Given the description of an element on the screen output the (x, y) to click on. 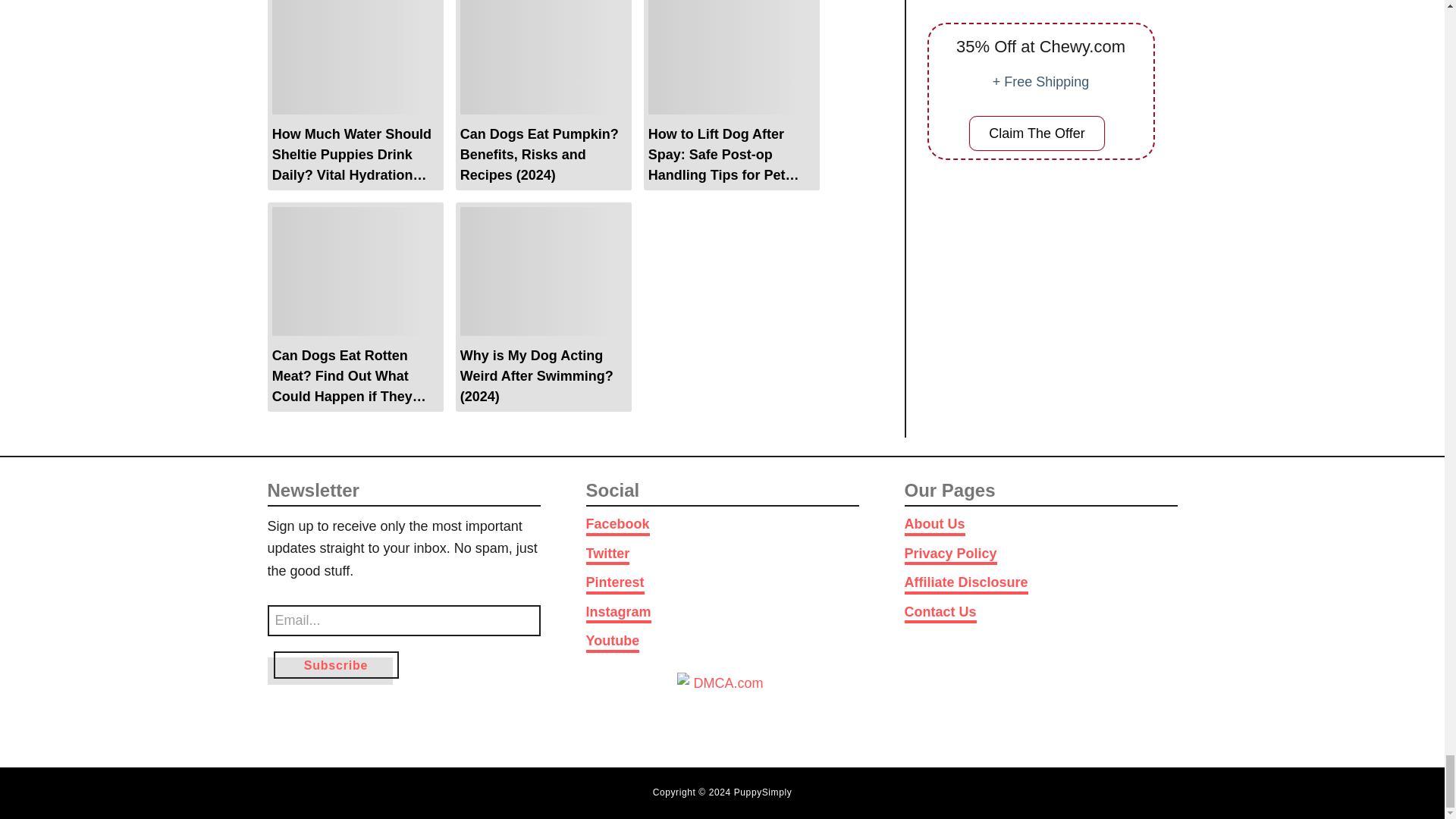
Subscribe (335, 664)
DMCA.com Protection Status (722, 705)
